Given the description of an element on the screen output the (x, y) to click on. 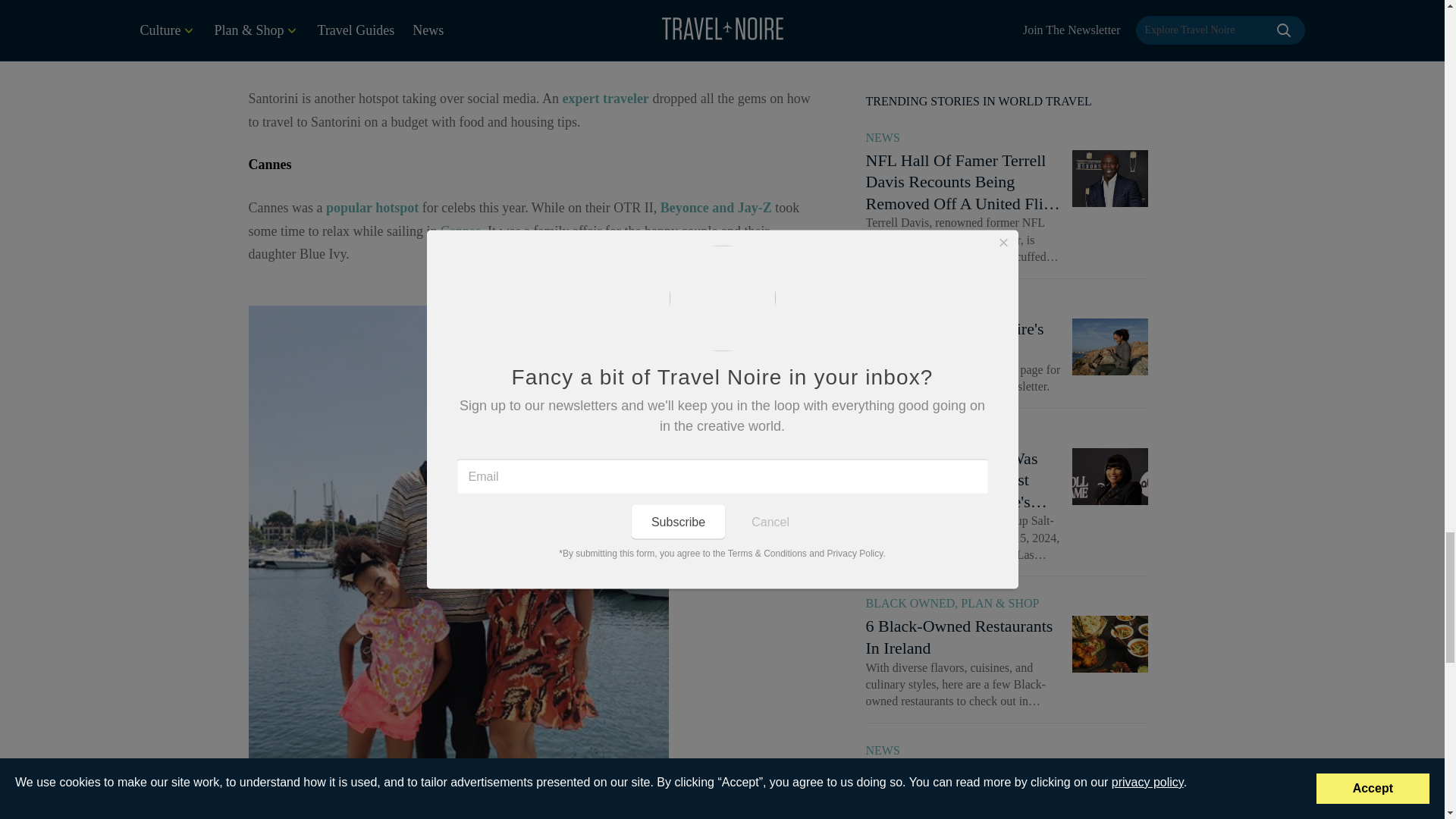
Welcome to Travel Noire's Daily Newsletter (1109, 84)
6 Black-Owned Restaurants In Ireland (1109, 381)
FAA Trials Are Underway For Boeing's New 777X aircraft (1109, 528)
